Given the description of an element on the screen output the (x, y) to click on. 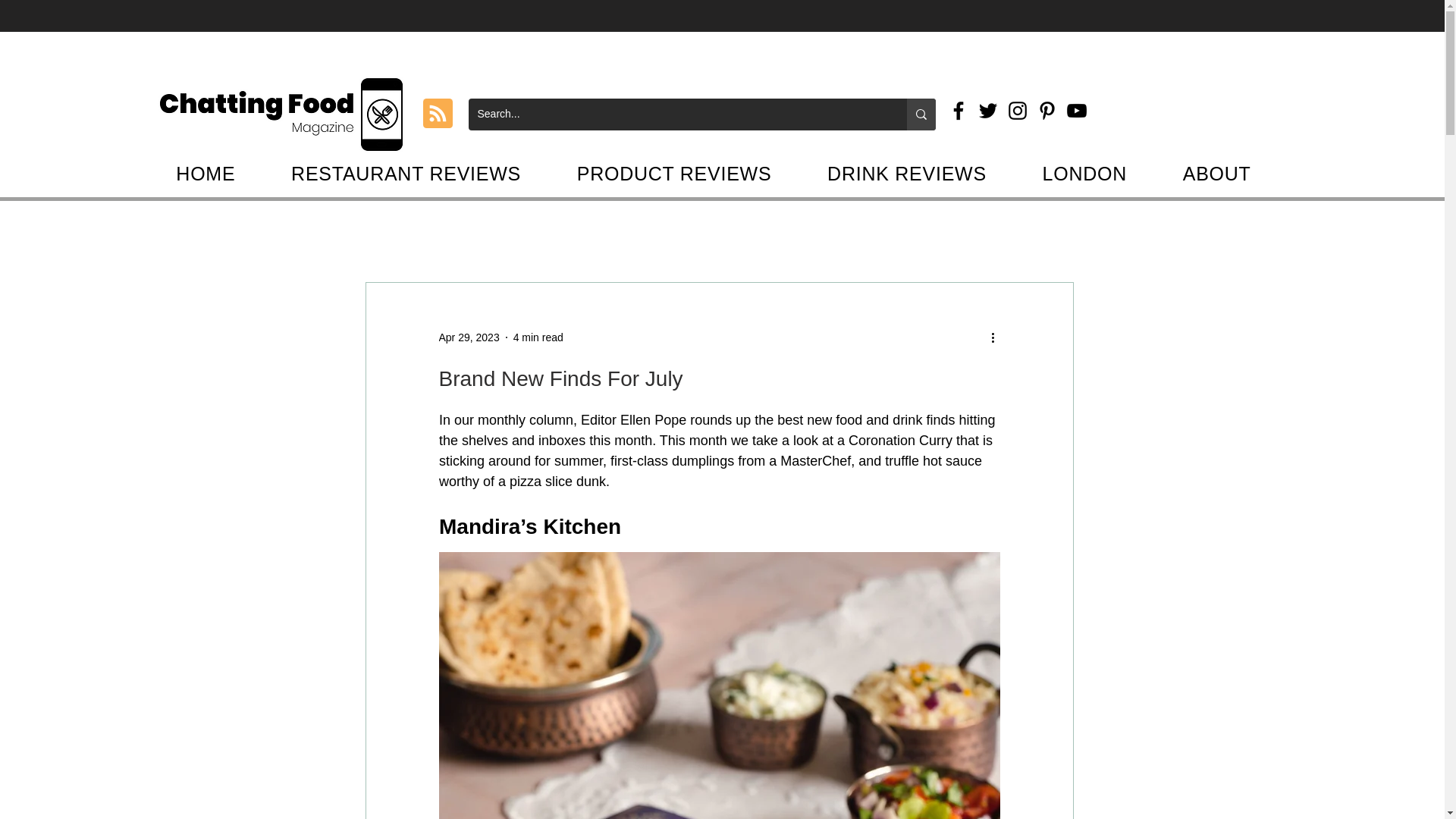
Apr 29, 2023 (468, 336)
ABOUT (1216, 173)
DRINK REVIEWS (906, 173)
HOME (205, 173)
RESTAURANT REVIEWS (406, 173)
PRODUCT REVIEWS (673, 173)
LONDON (1084, 173)
4 min read (538, 336)
